Given the description of an element on the screen output the (x, y) to click on. 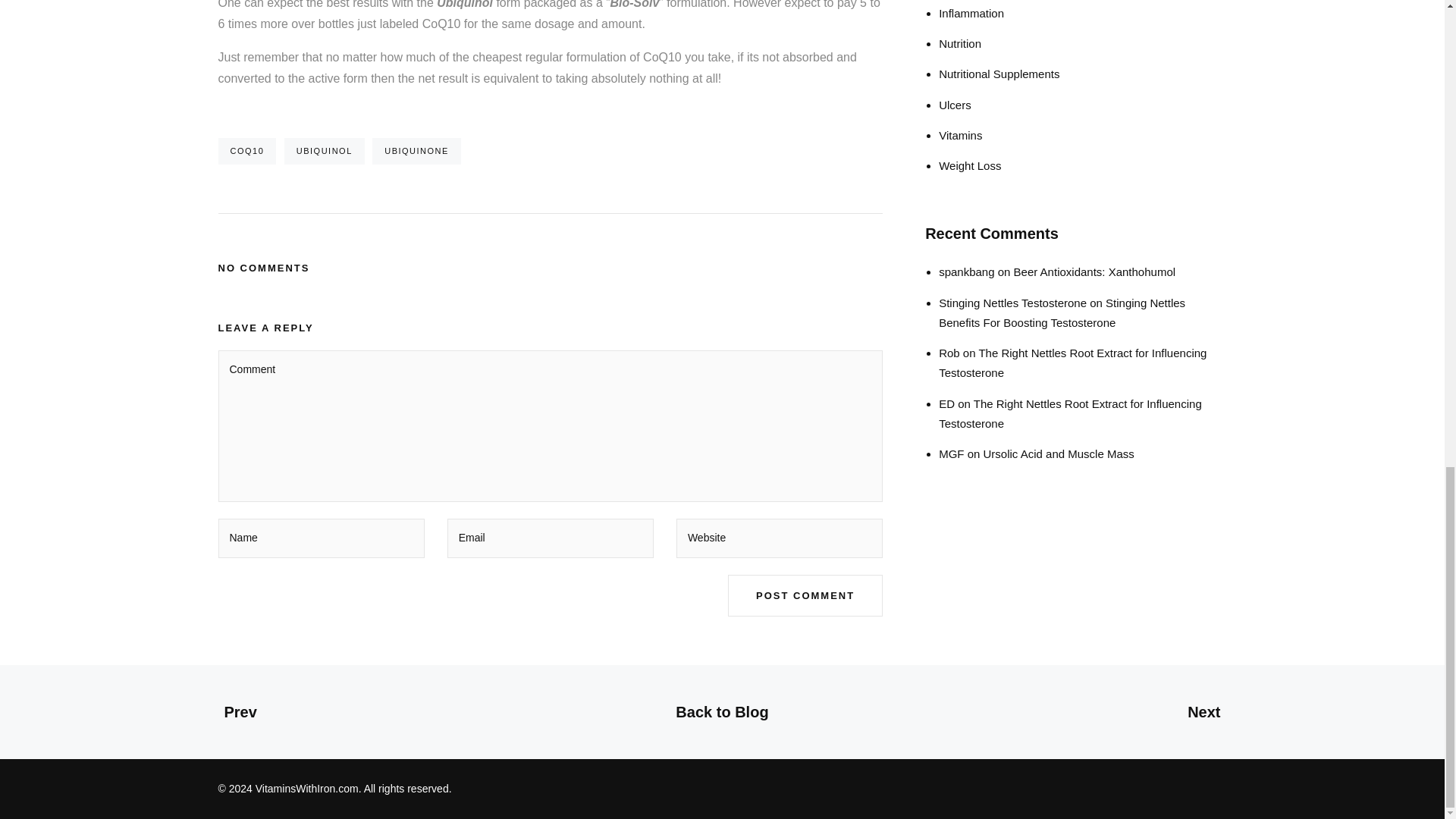
Post Comment (805, 595)
COQ10 (247, 151)
UBIQUINONE (416, 151)
Post Comment (805, 595)
UBIQUINOL (324, 151)
